Given the description of an element on the screen output the (x, y) to click on. 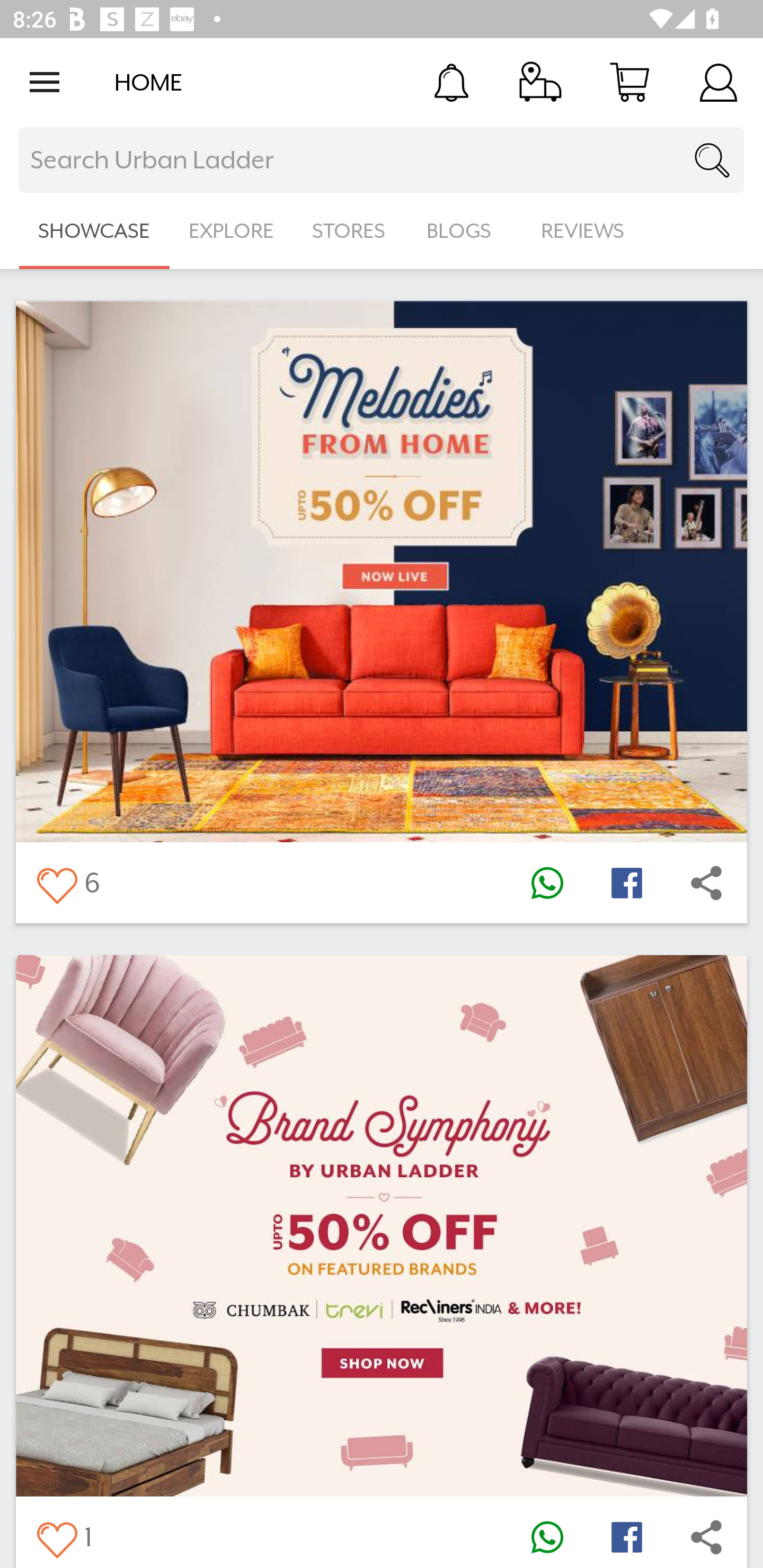
Open navigation drawer (44, 82)
Notification (450, 81)
Track Order (540, 81)
Cart (629, 81)
Account Details (718, 81)
Search Urban Ladder  (381, 159)
SHOWCASE (94, 230)
EXPLORE (230, 230)
STORES (349, 230)
BLOGS (464, 230)
REVIEWS (582, 230)
 (55, 882)
 (547, 882)
 (626, 882)
 (706, 882)
 (55, 1536)
 (547, 1536)
 (626, 1536)
 (706, 1536)
